Given the description of an element on the screen output the (x, y) to click on. 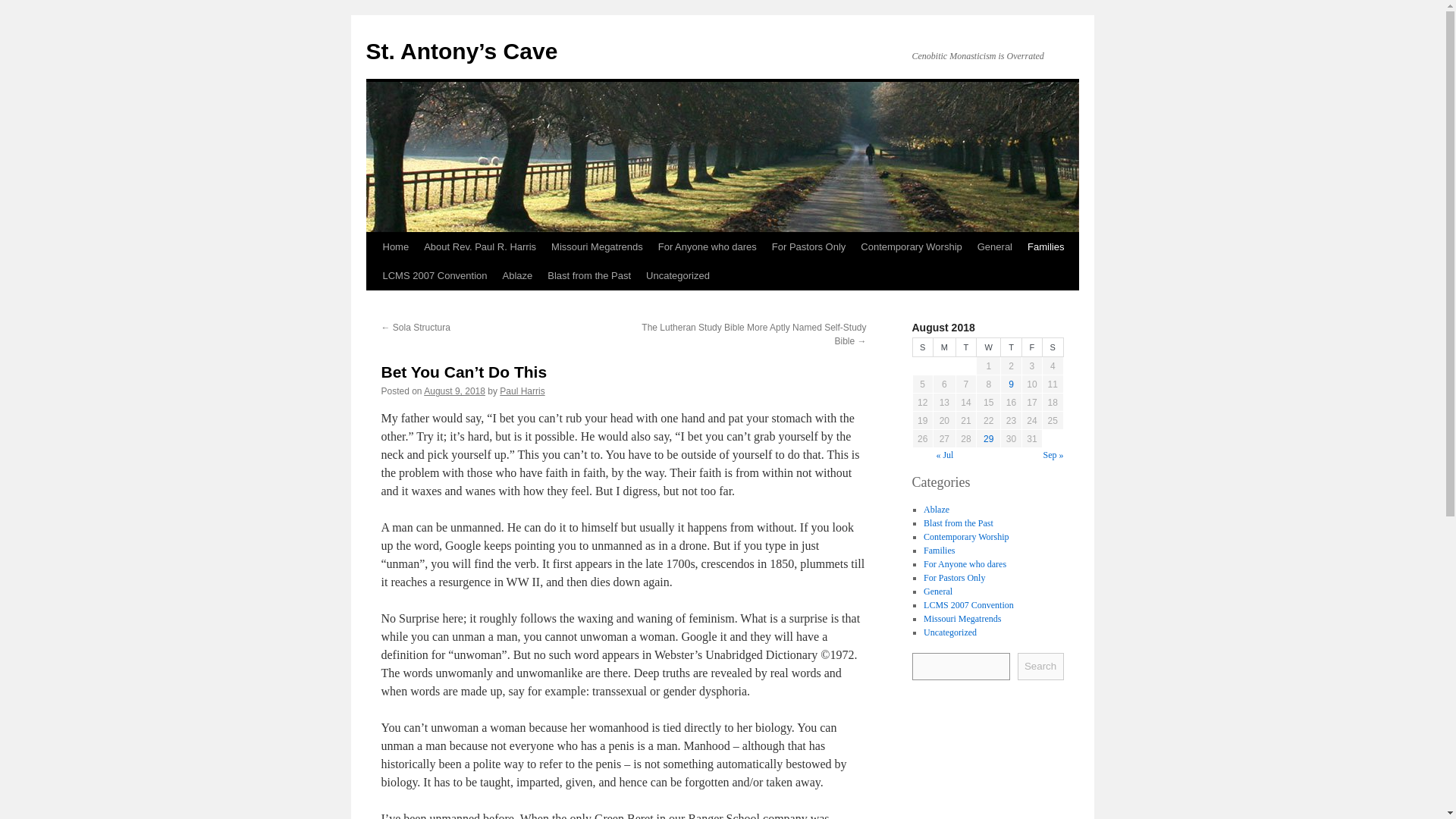
Sunday (922, 347)
Uncategorized (949, 631)
About Rev. Paul R. Harris (479, 246)
Missouri Megatrends (962, 617)
Uncategorized (678, 275)
Paul Harris (521, 390)
Friday (1032, 347)
Tuesday (965, 347)
Families (1045, 246)
For Pastors Only (808, 246)
General (937, 590)
Missouri Megatrends (596, 246)
Contemporary Worship (966, 535)
LCMS 2007 Convention (434, 275)
Blast from the Past (957, 521)
